Given the description of an element on the screen output the (x, y) to click on. 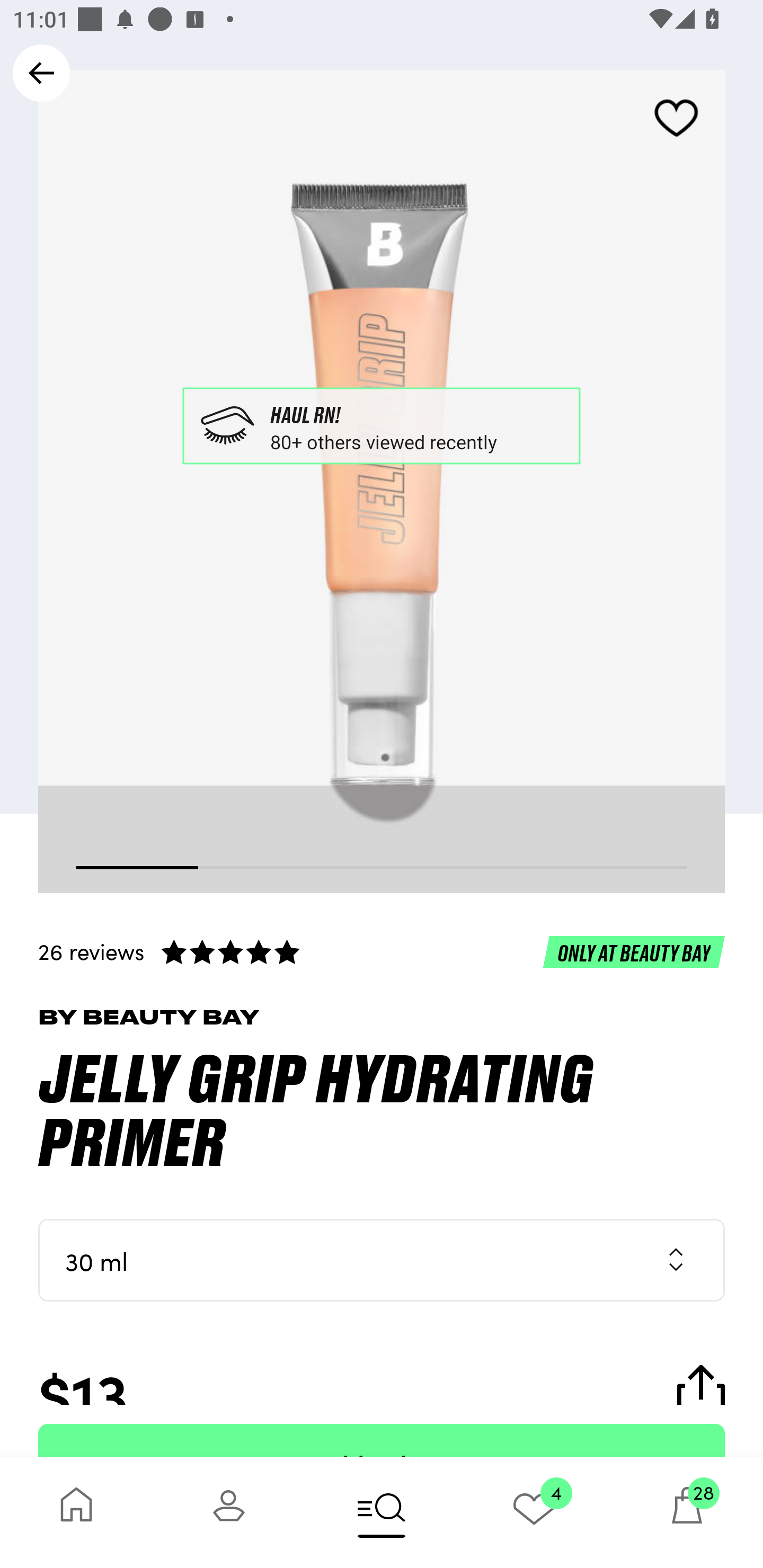
26 reviews (381, 950)
30 ml  (381, 1259)
4 (533, 1512)
28 (686, 1512)
